Given the description of an element on the screen output the (x, y) to click on. 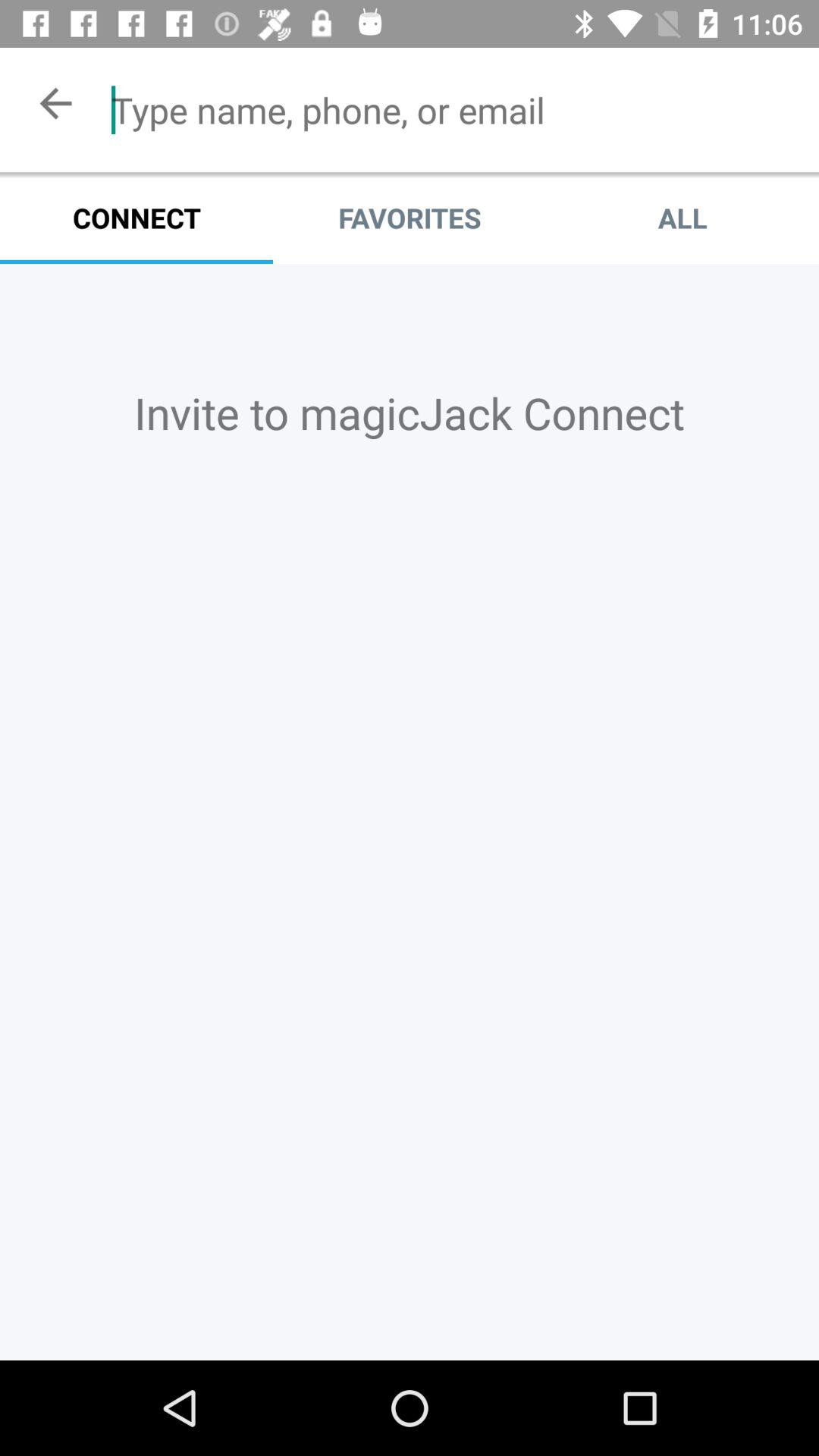
tap the item at the top right corner (682, 217)
